Given the description of an element on the screen output the (x, y) to click on. 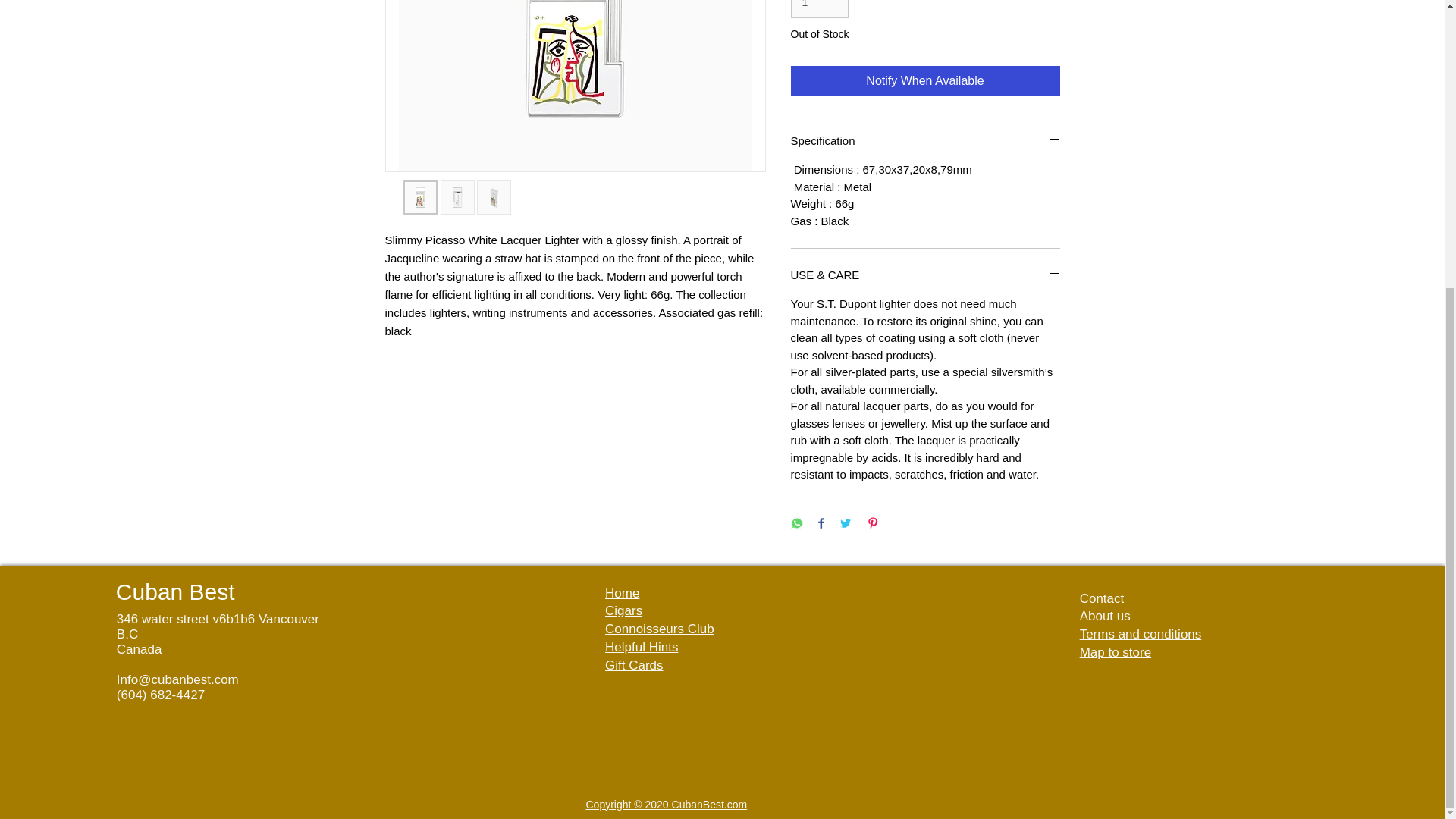
Specification (924, 140)
Helpful Hints (641, 646)
Notify When Available (924, 81)
1 (818, 9)
Home (622, 593)
Gift Cards (634, 665)
Contact (1102, 598)
Connoisseurs Club (659, 628)
Cigars (623, 610)
Terms and conditions (1141, 634)
